Given the description of an element on the screen output the (x, y) to click on. 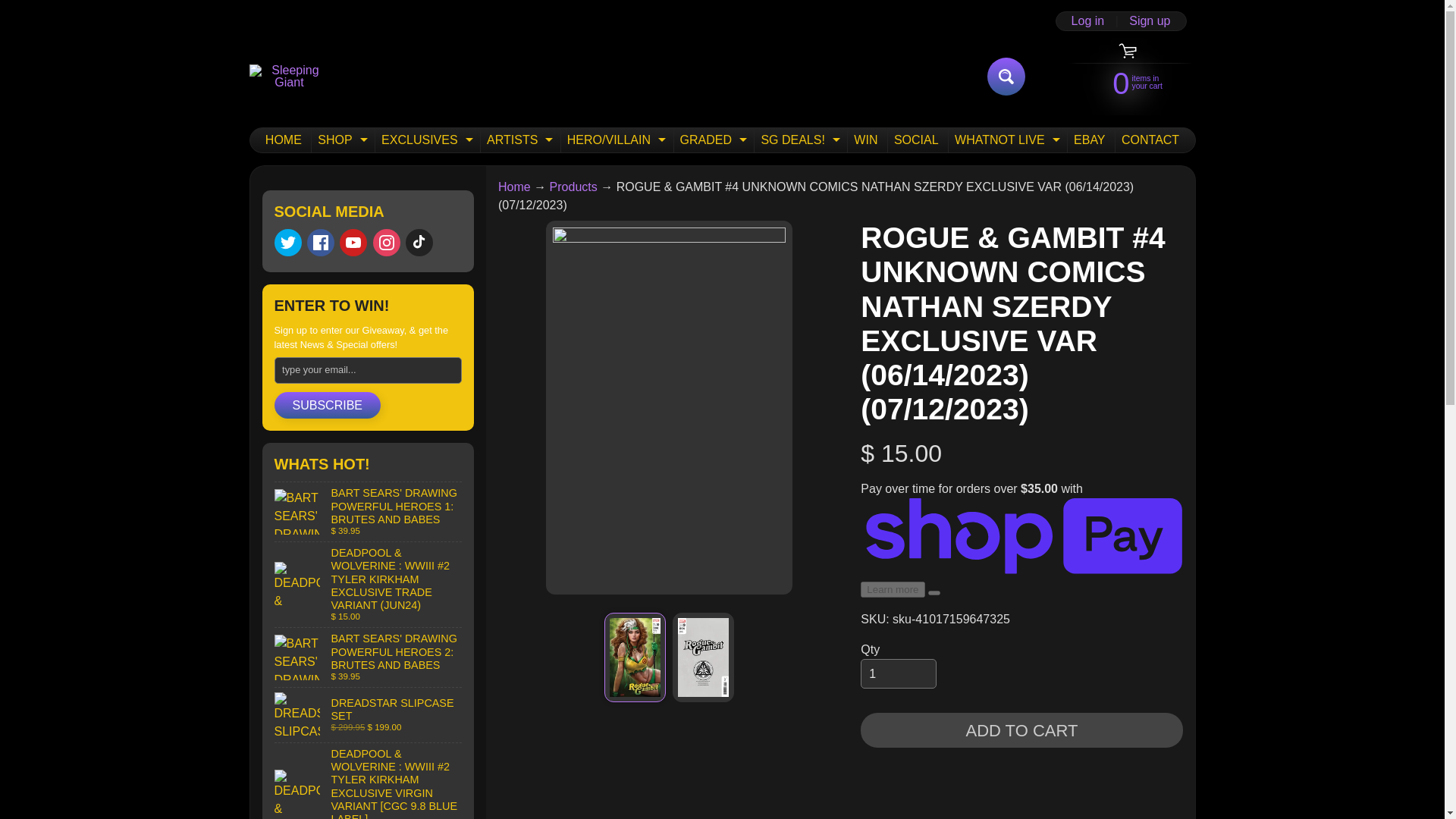
SKIP TO CONTENT (22, 8)
TikTok (425, 139)
DREADSTAR SLIPCASE SET (419, 242)
Search (369, 714)
Back to the home page (341, 139)
Facebook (1006, 76)
1 (514, 186)
